Given the description of an element on the screen output the (x, y) to click on. 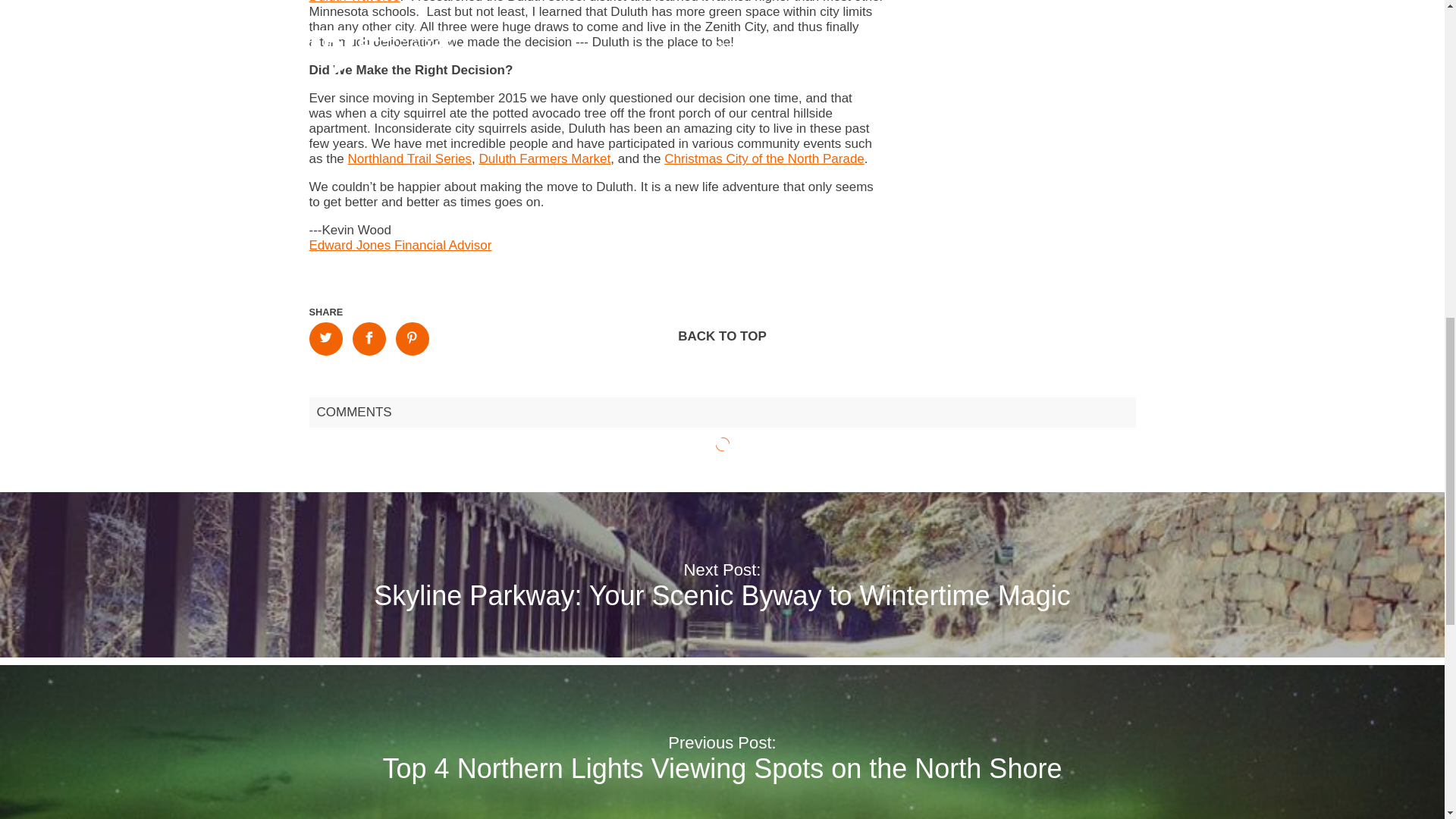
Share on Pinterest (412, 338)
Duluth Farmers Market (544, 158)
Duluth Traverse (354, 2)
Edward Jones Financial Advisor (400, 245)
Share on Twitter (325, 338)
Northland Trail Series (409, 158)
Christmas City of the North Parade (763, 158)
Share on Facebook (368, 338)
